Given the description of an element on the screen output the (x, y) to click on. 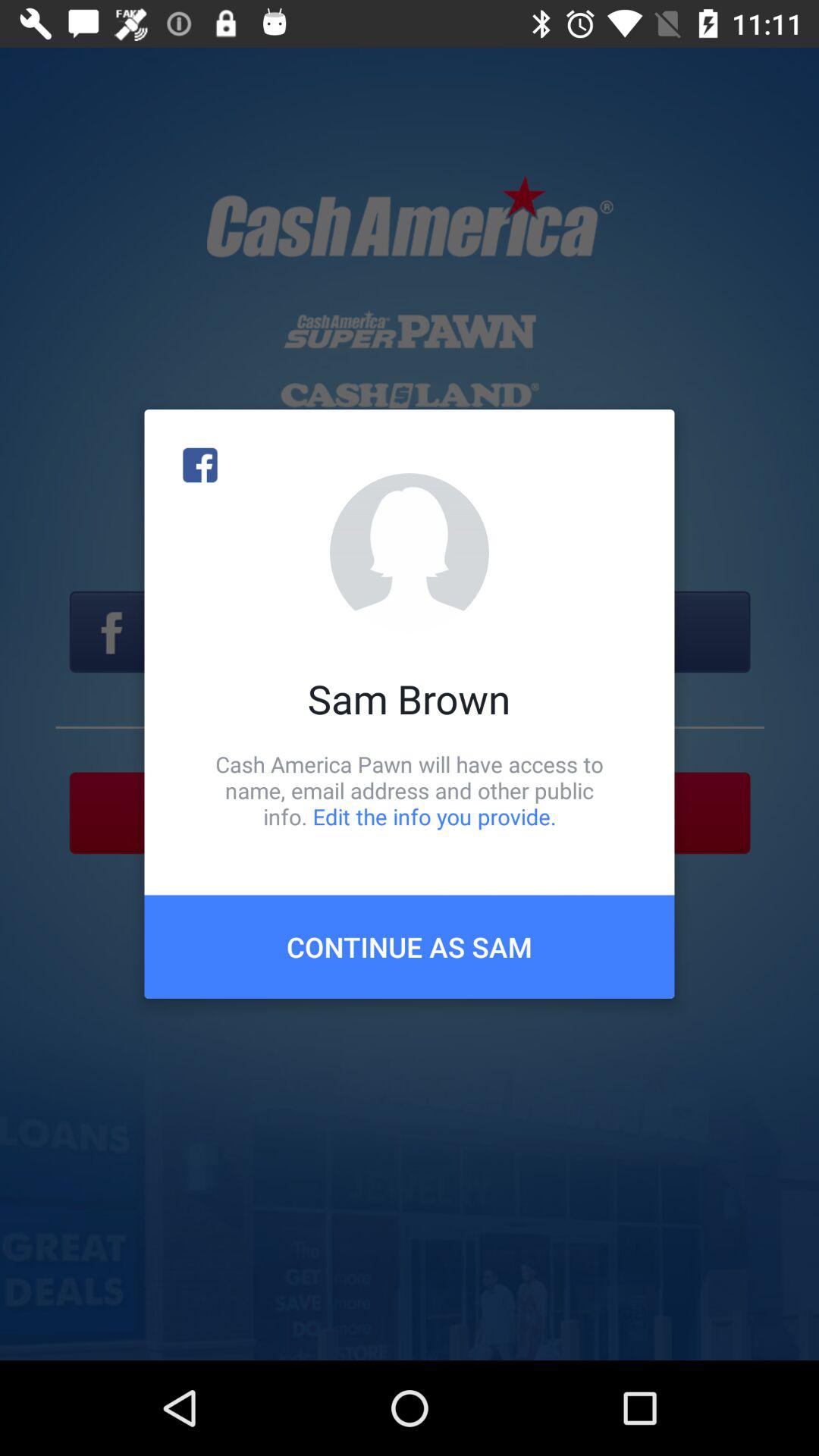
scroll until the continue as sam (409, 946)
